Given the description of an element on the screen output the (x, y) to click on. 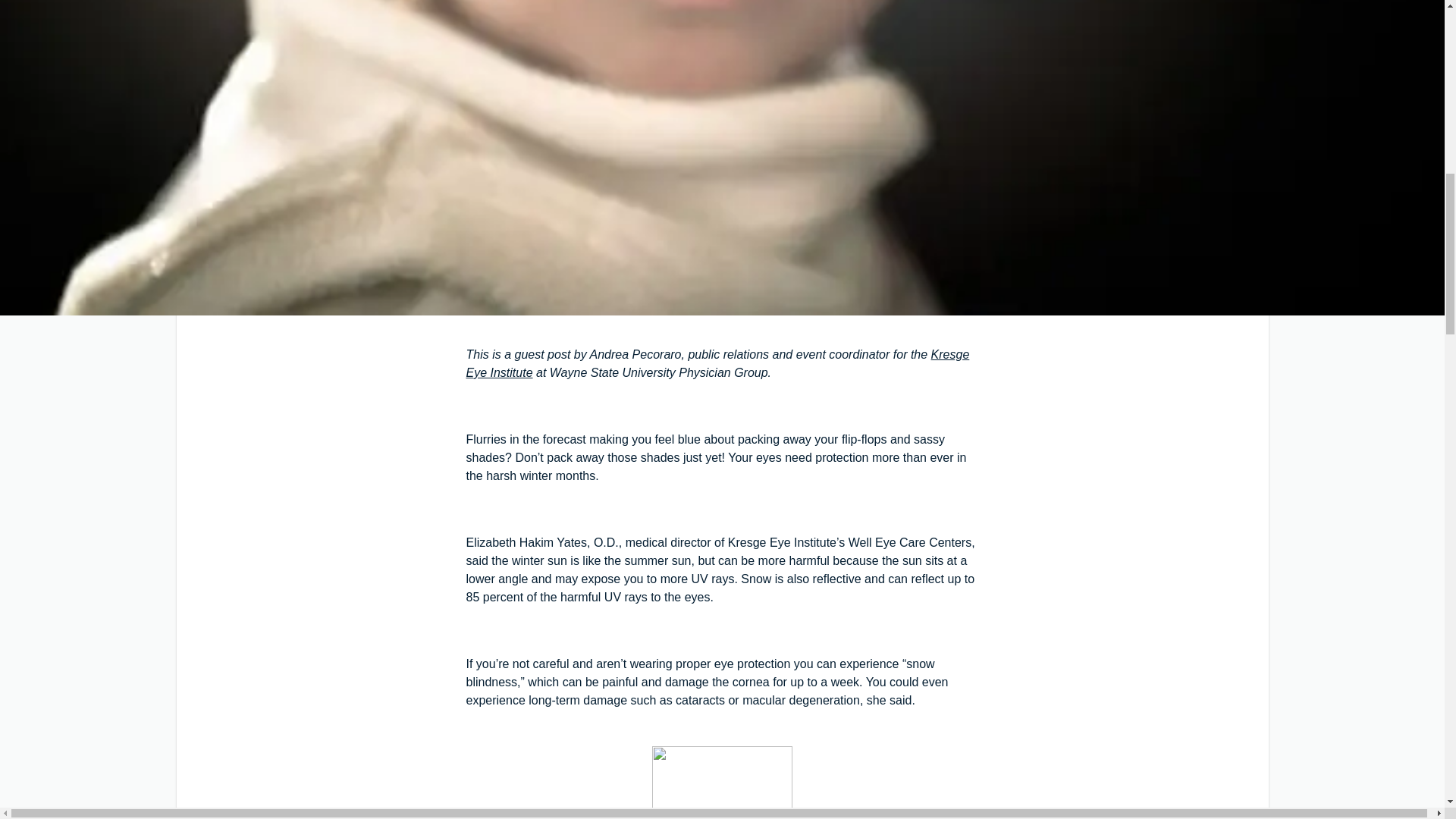
Kresge Eye Institute (717, 363)
